Given the description of an element on the screen output the (x, y) to click on. 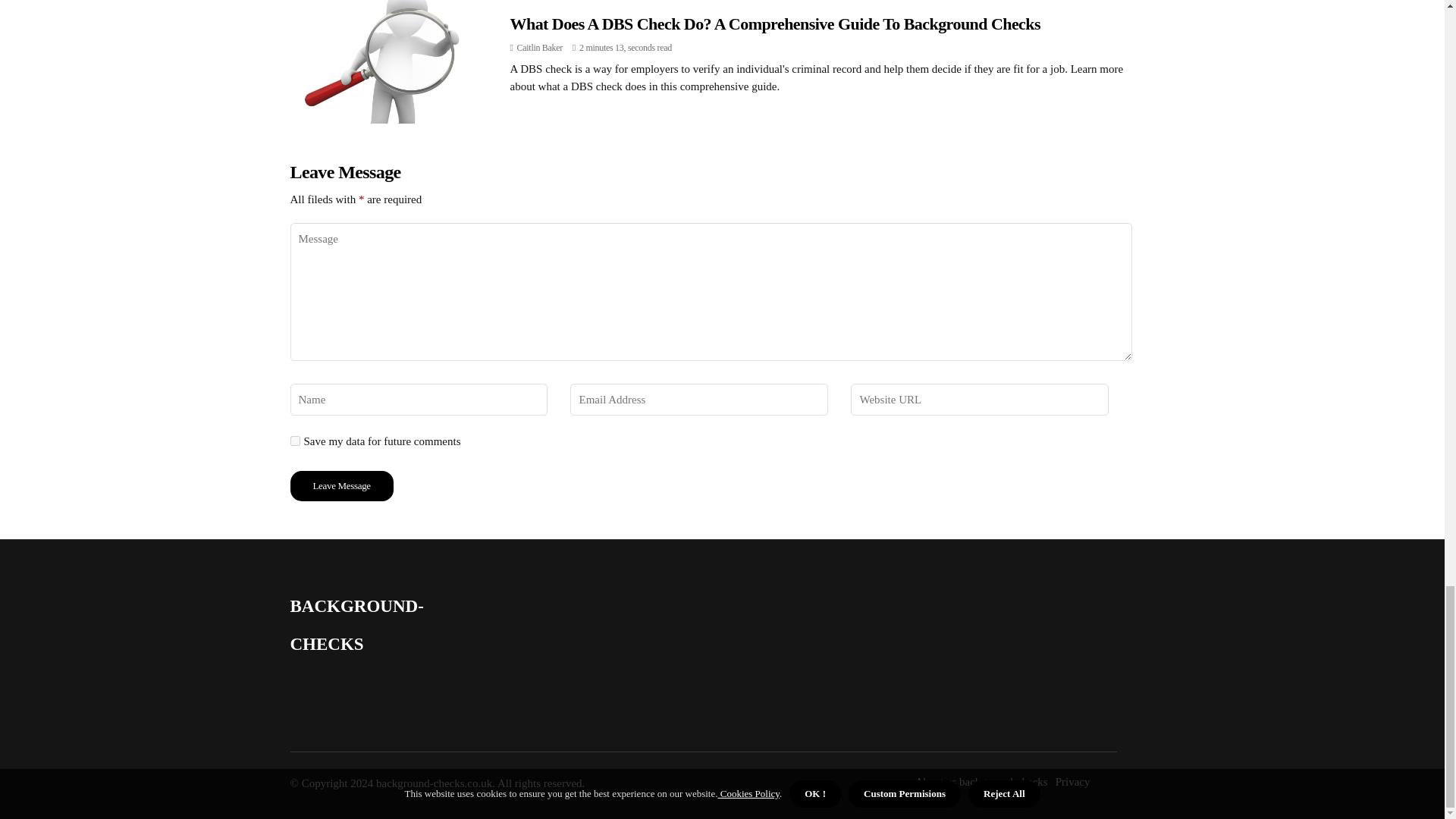
Leave Message (341, 485)
Posts by Caitlin Baker (539, 47)
Caitlin Baker (539, 47)
Leave Message (341, 485)
yes (294, 440)
